Given the description of an element on the screen output the (x, y) to click on. 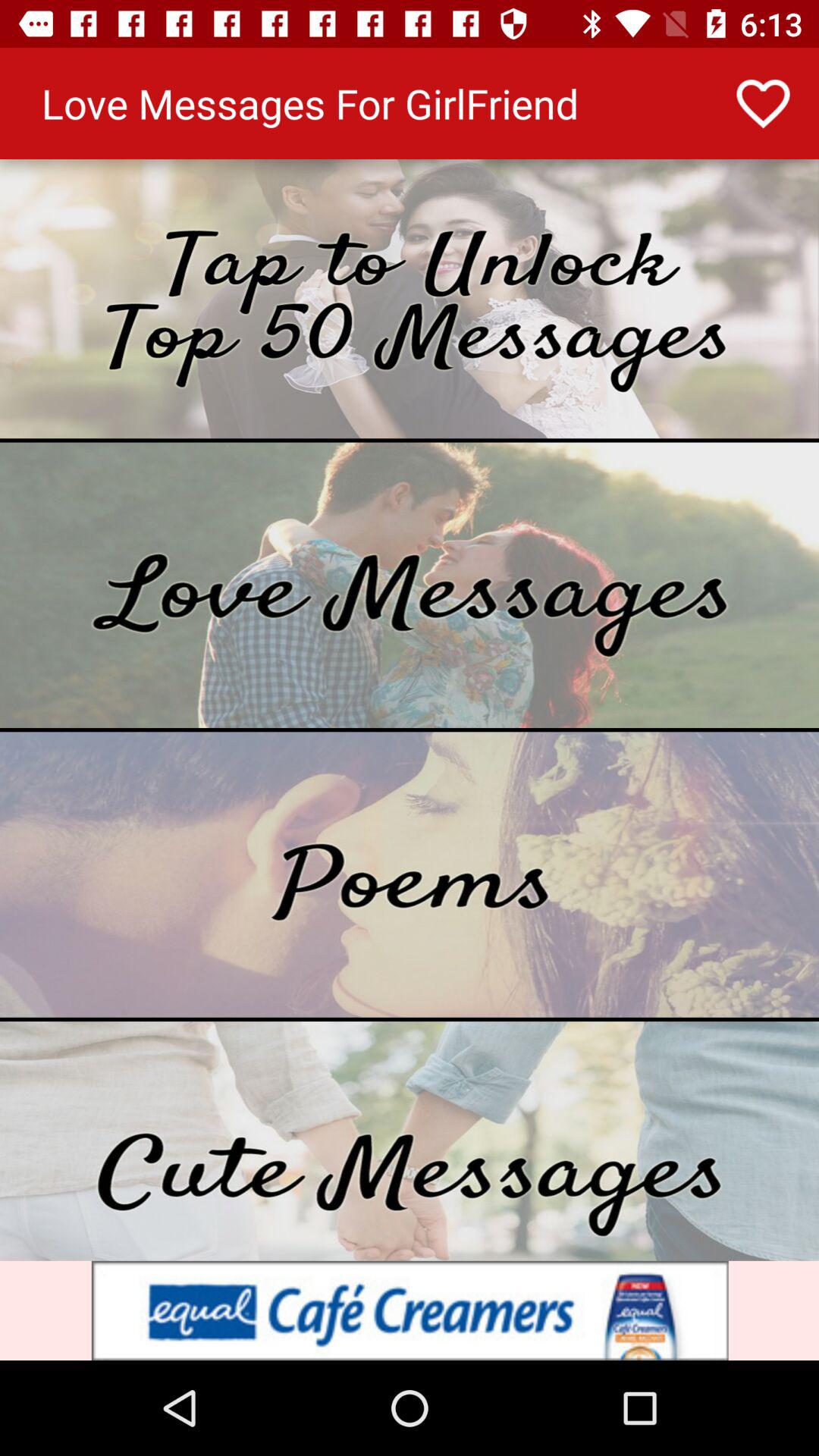
go to cute messages (409, 1140)
